Given the description of an element on the screen output the (x, y) to click on. 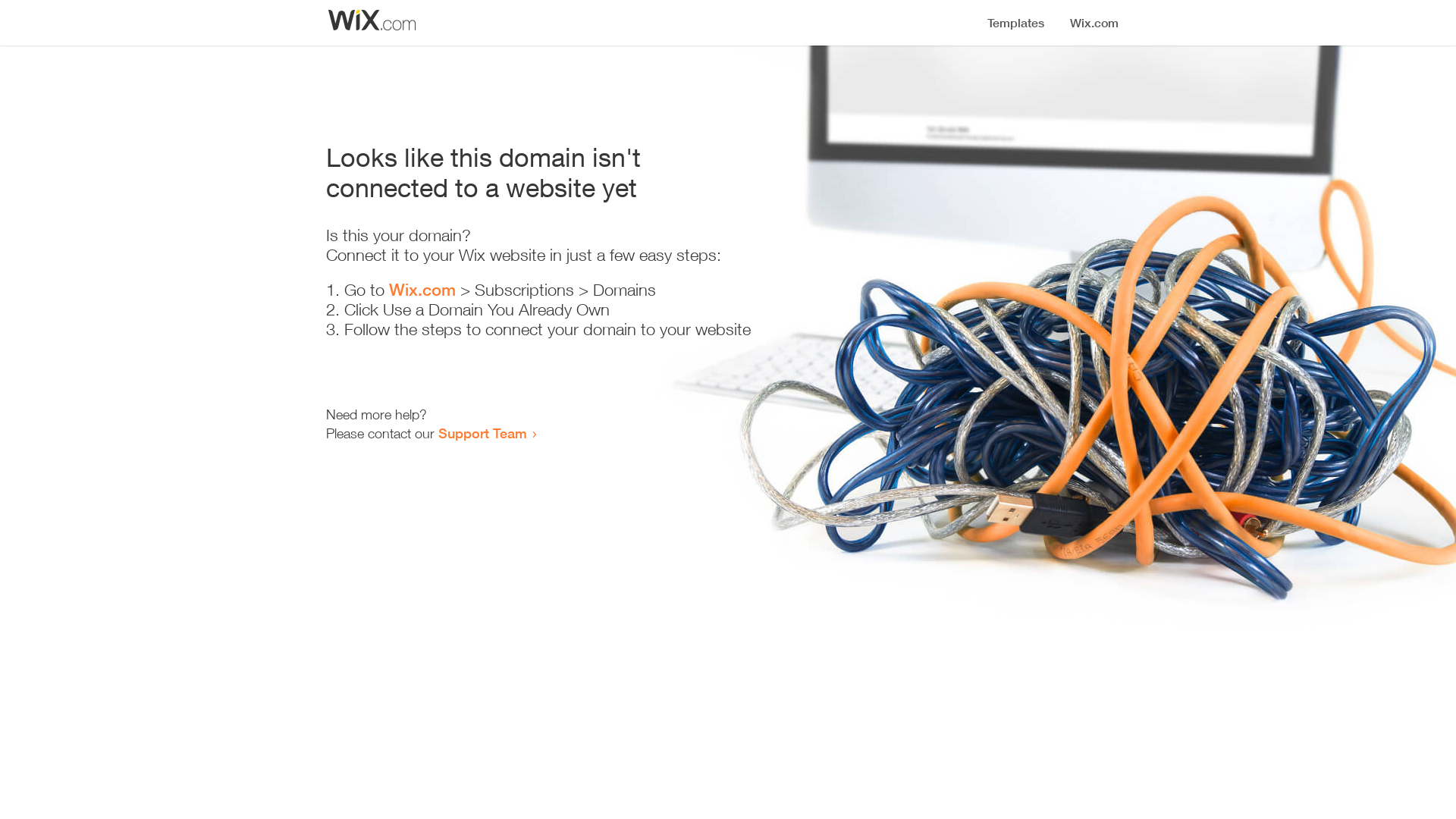
Support Team Element type: text (482, 432)
Wix.com Element type: text (422, 289)
